Given the description of an element on the screen output the (x, y) to click on. 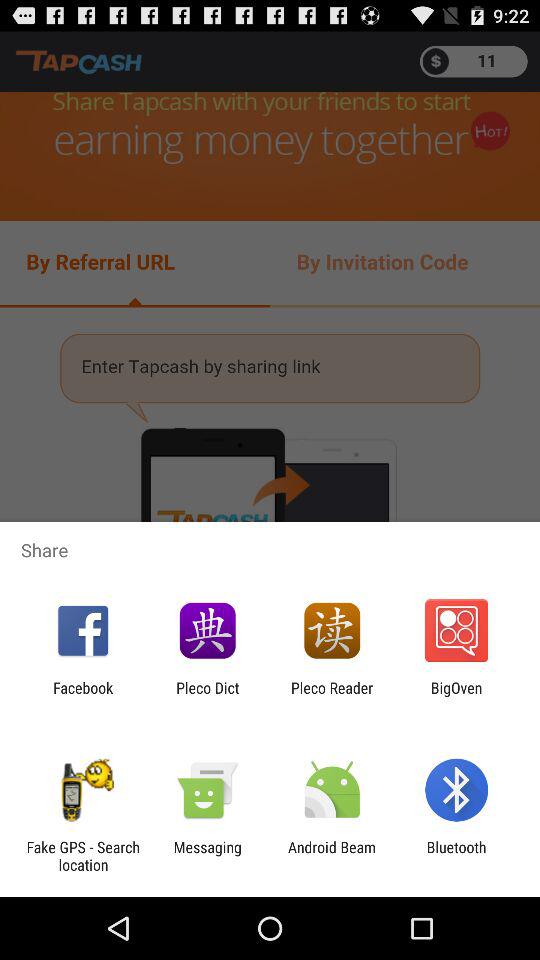
tap the app to the right of pleco reader item (456, 696)
